Given the description of an element on the screen output the (x, y) to click on. 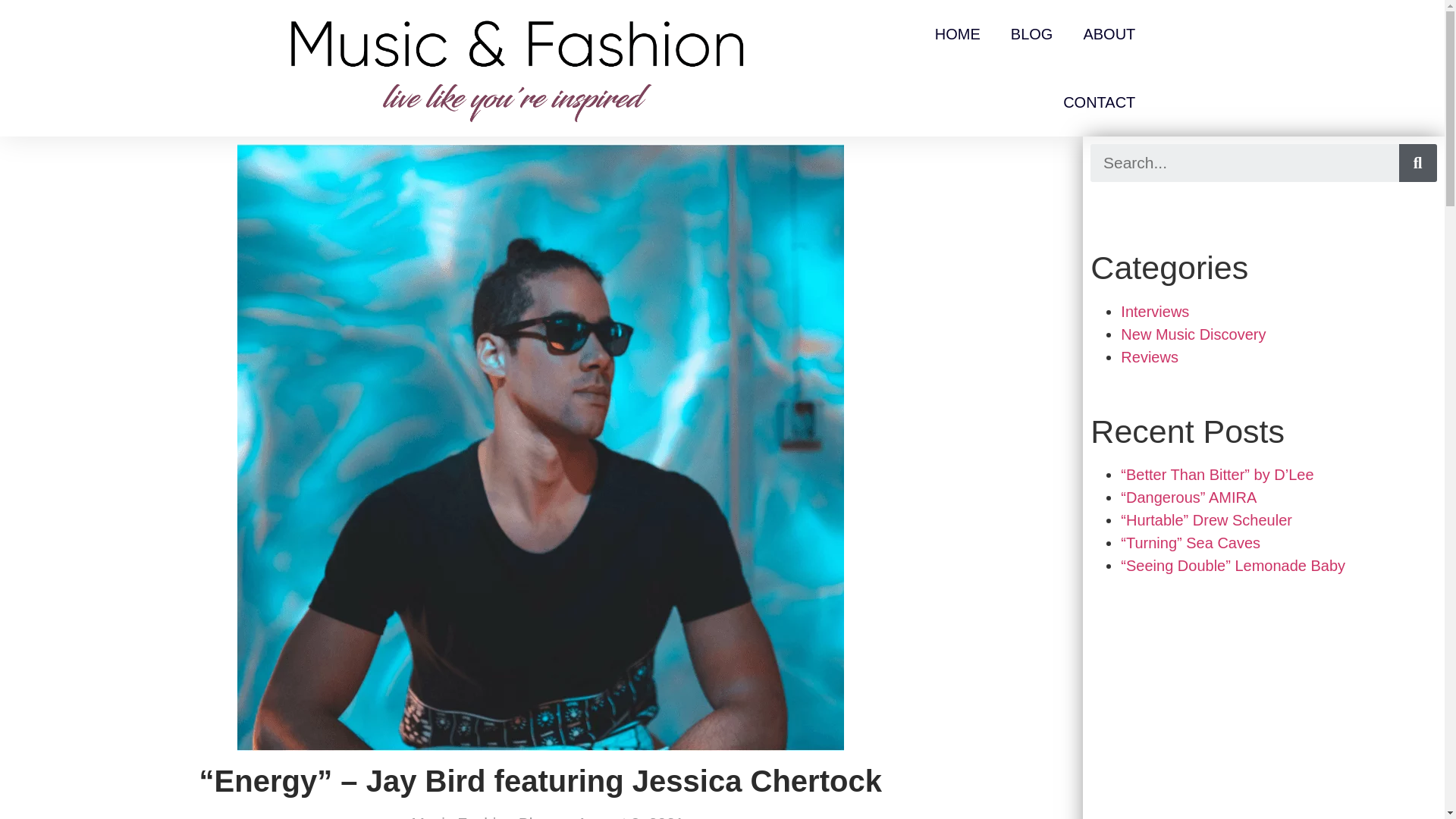
Search (1418, 162)
Music Fashion Blog (473, 815)
New Music Discovery (1193, 334)
CONTACT (1099, 101)
BLOG (1031, 33)
Interviews (1155, 311)
August 3, 2021 (623, 815)
HOME (957, 33)
Search (1243, 162)
ABOUT (1108, 33)
